Given the description of an element on the screen output the (x, y) to click on. 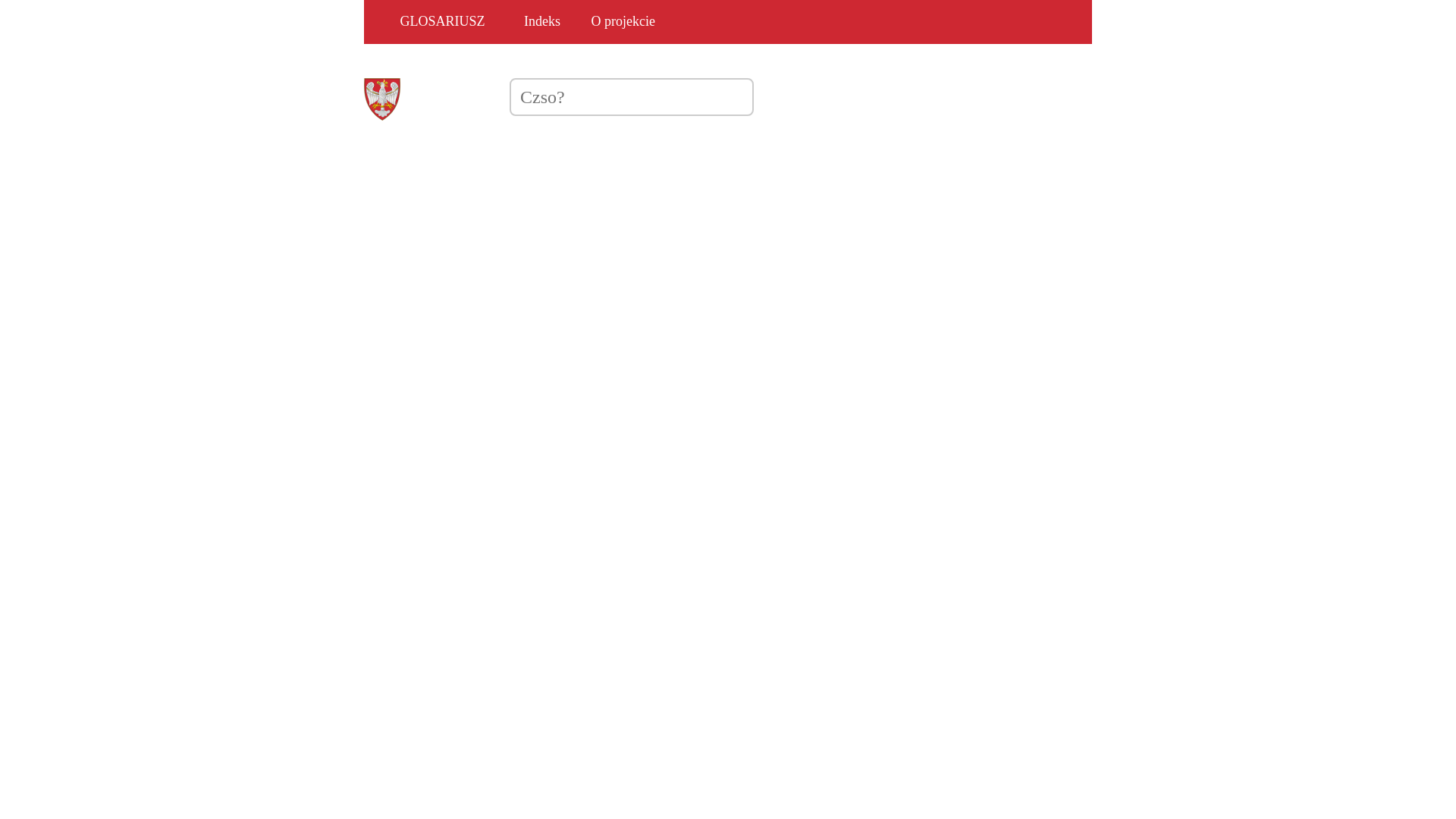
O projekcie Element type: text (622, 21)
Indeks Element type: text (542, 21)
GLOSARIUSZ Element type: text (431, 21)
